Given the description of an element on the screen output the (x, y) to click on. 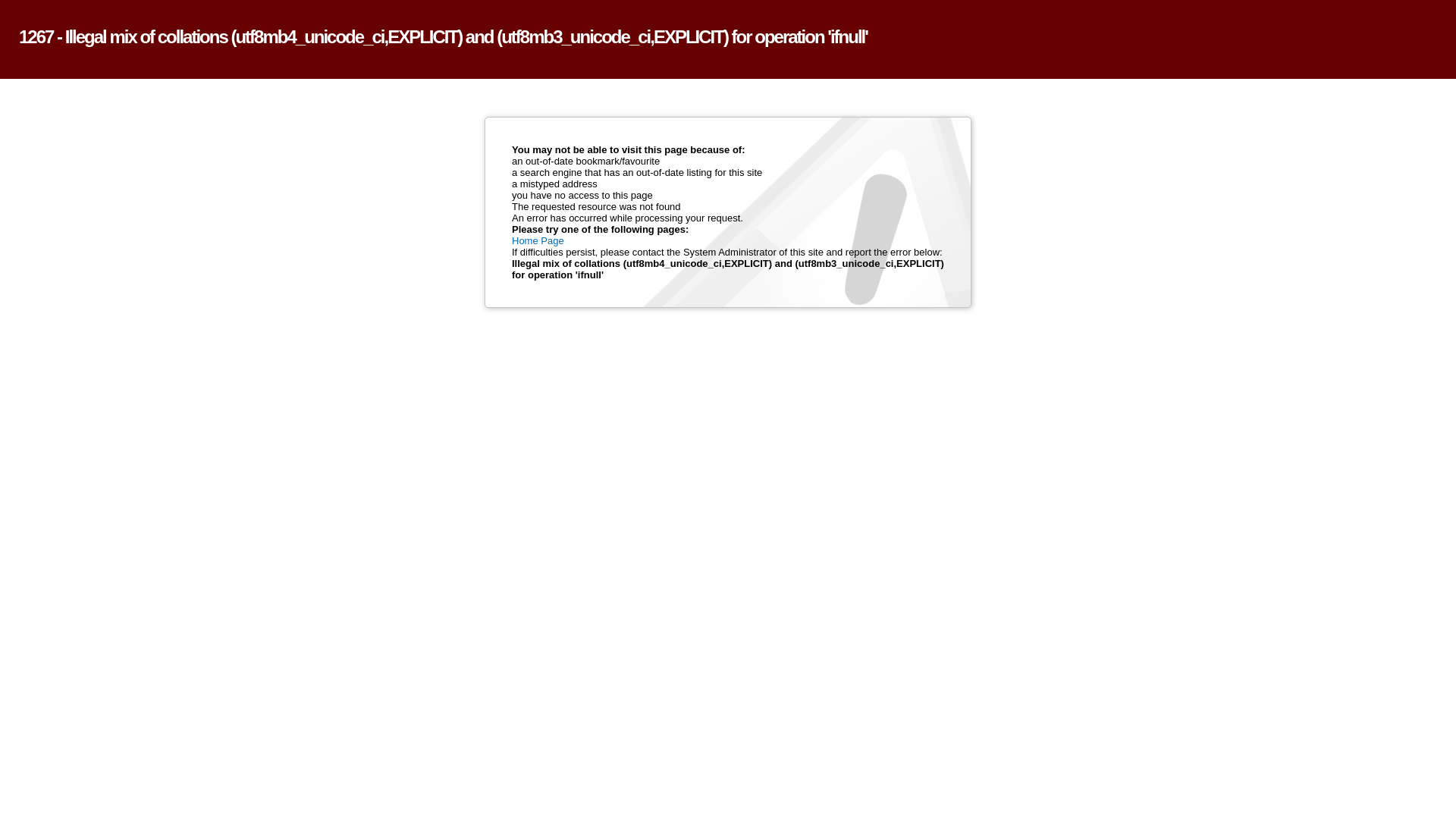
Home Page Element type: text (537, 240)
